Given the description of an element on the screen output the (x, y) to click on. 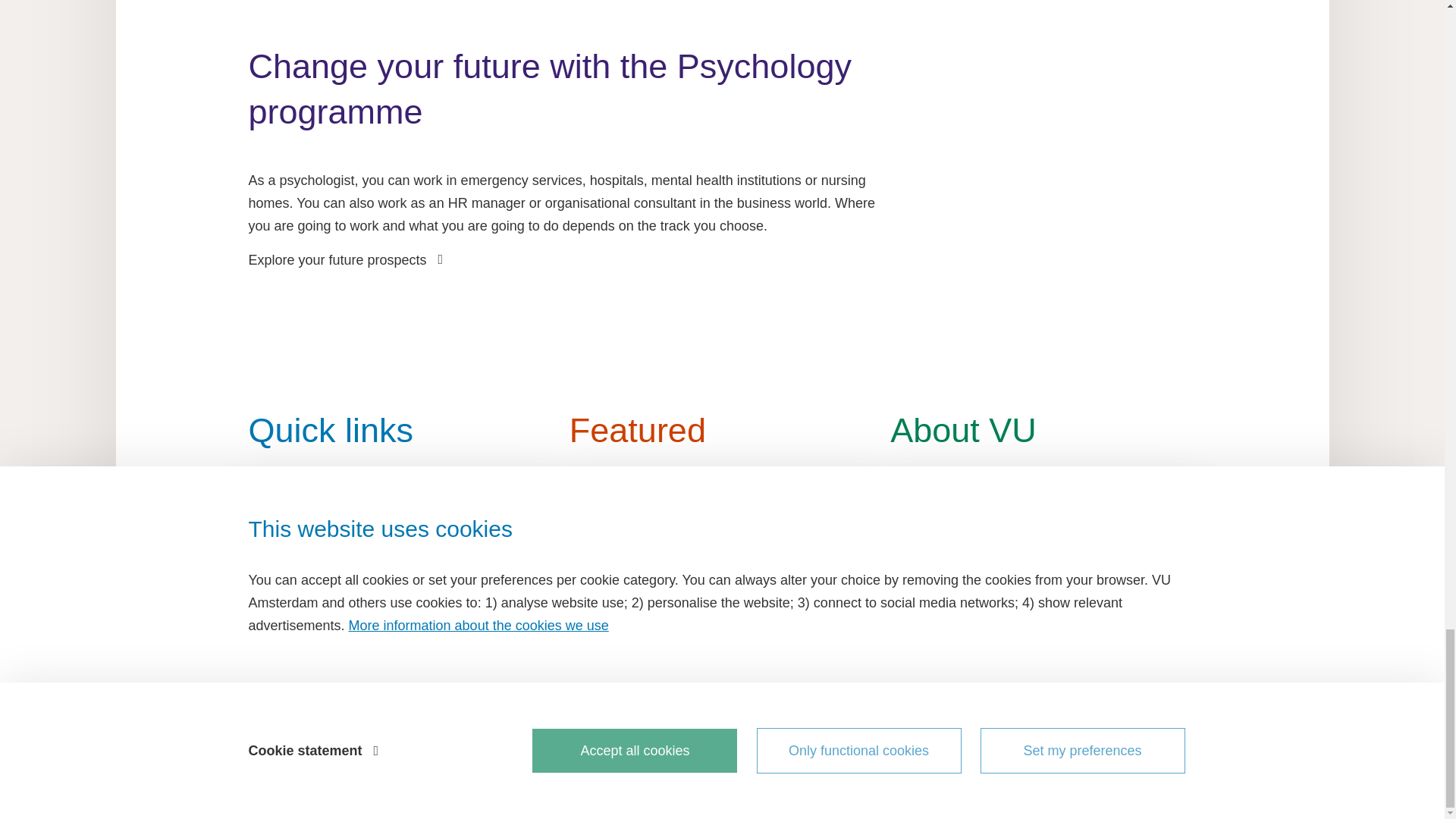
Study guide (400, 540)
University Library (400, 593)
VU Press Office (400, 620)
Education (400, 513)
Research (400, 567)
Explore your future prospects (344, 259)
